Given the description of an element on the screen output the (x, y) to click on. 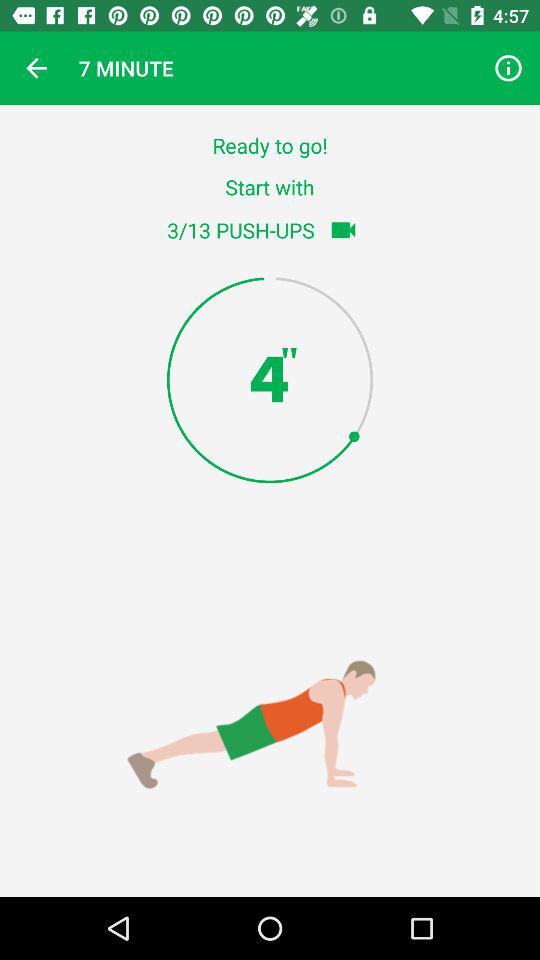
demonstration video (343, 230)
